Given the description of an element on the screen output the (x, y) to click on. 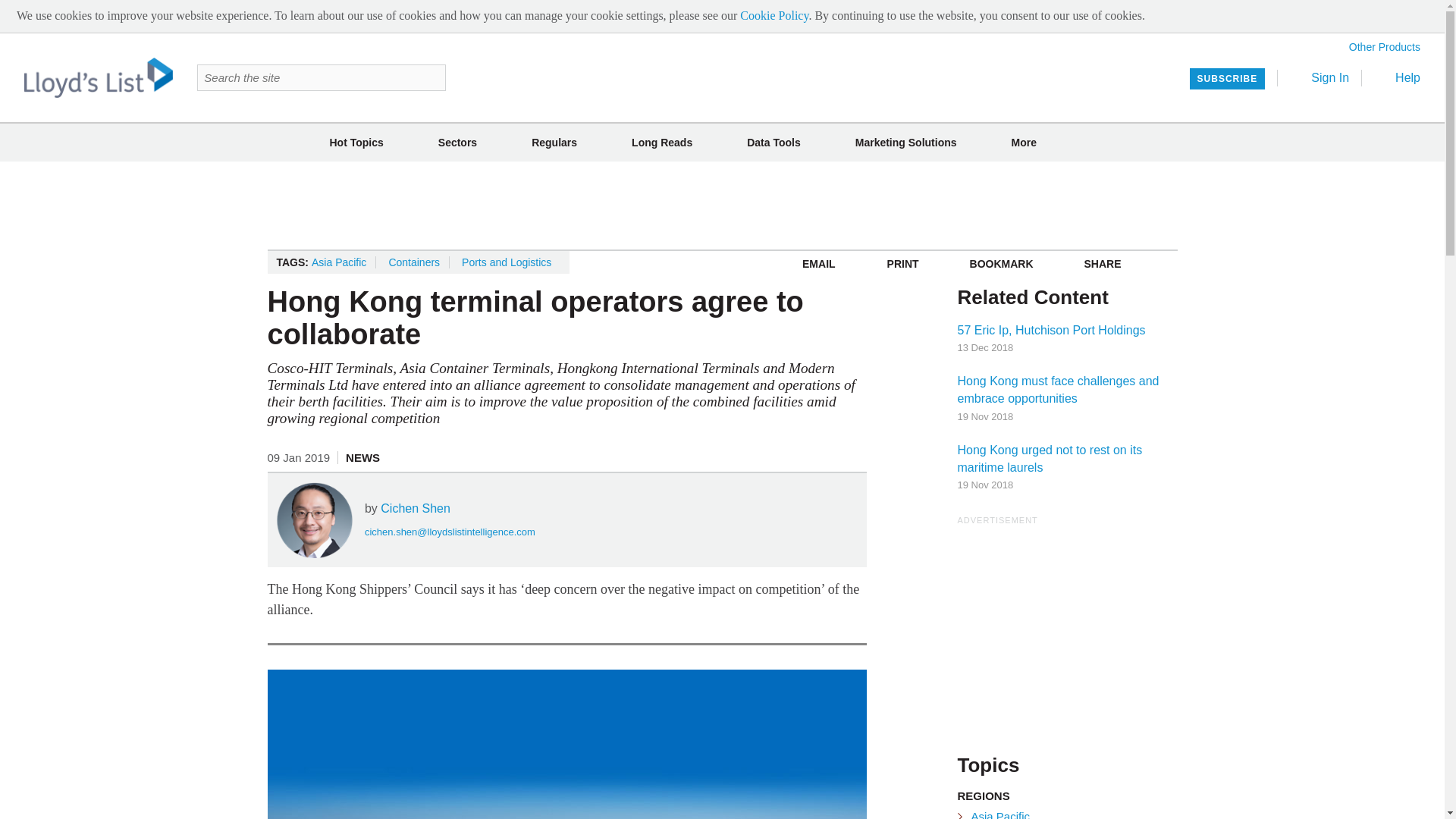
Other Products (1385, 46)
Help (1397, 77)
Sign In (1319, 77)
Cookie Policy (773, 15)
3rd party ad content (721, 205)
SUBSCRIBE (1227, 78)
3rd party ad content (1070, 622)
